Given the description of an element on the screen output the (x, y) to click on. 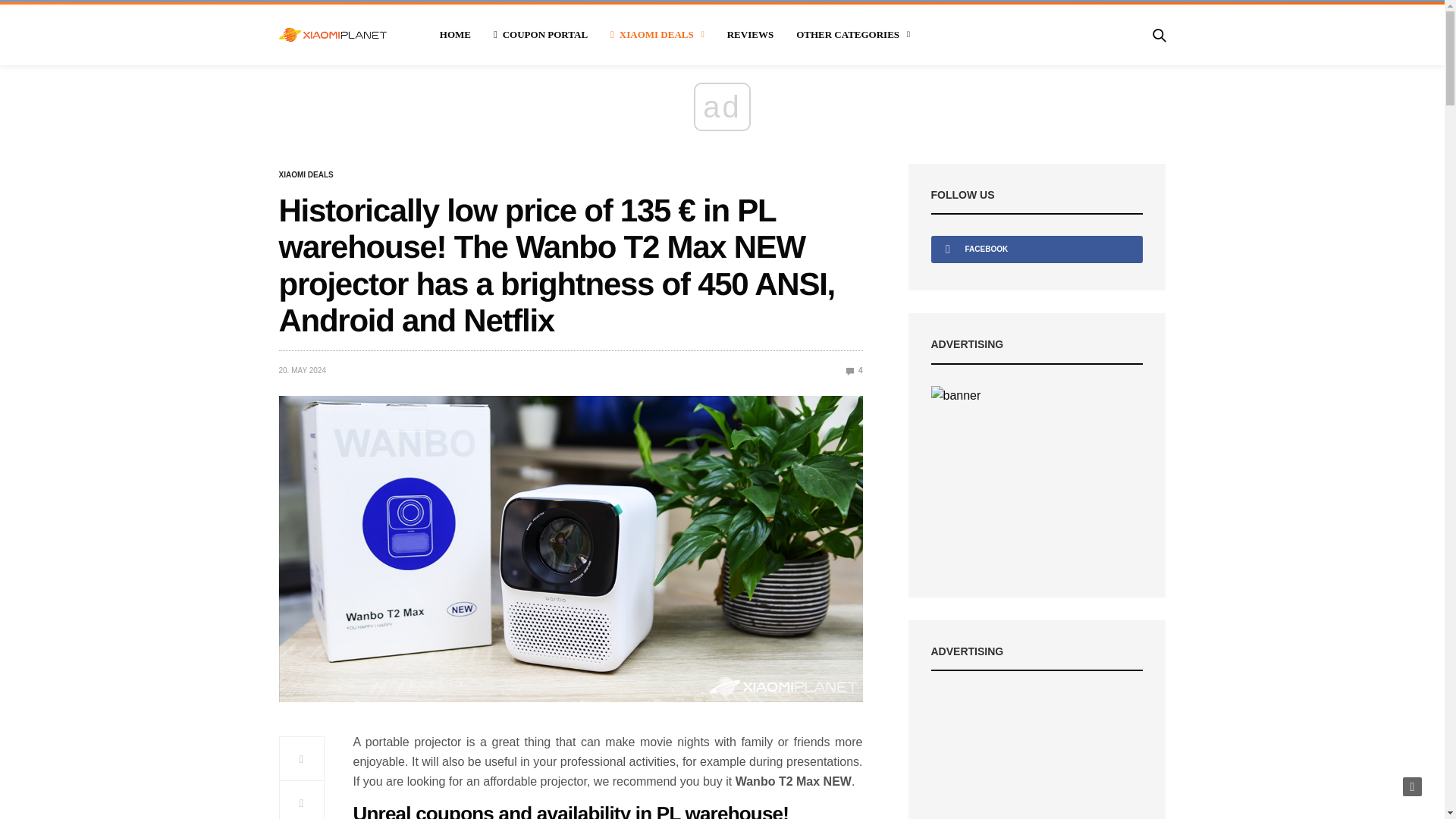
XIAOMI DEALS (657, 35)
COUPON PORTAL (540, 35)
HOME (454, 35)
OTHER CATEGORIES (853, 35)
REVIEWS (749, 35)
